Given the description of an element on the screen output the (x, y) to click on. 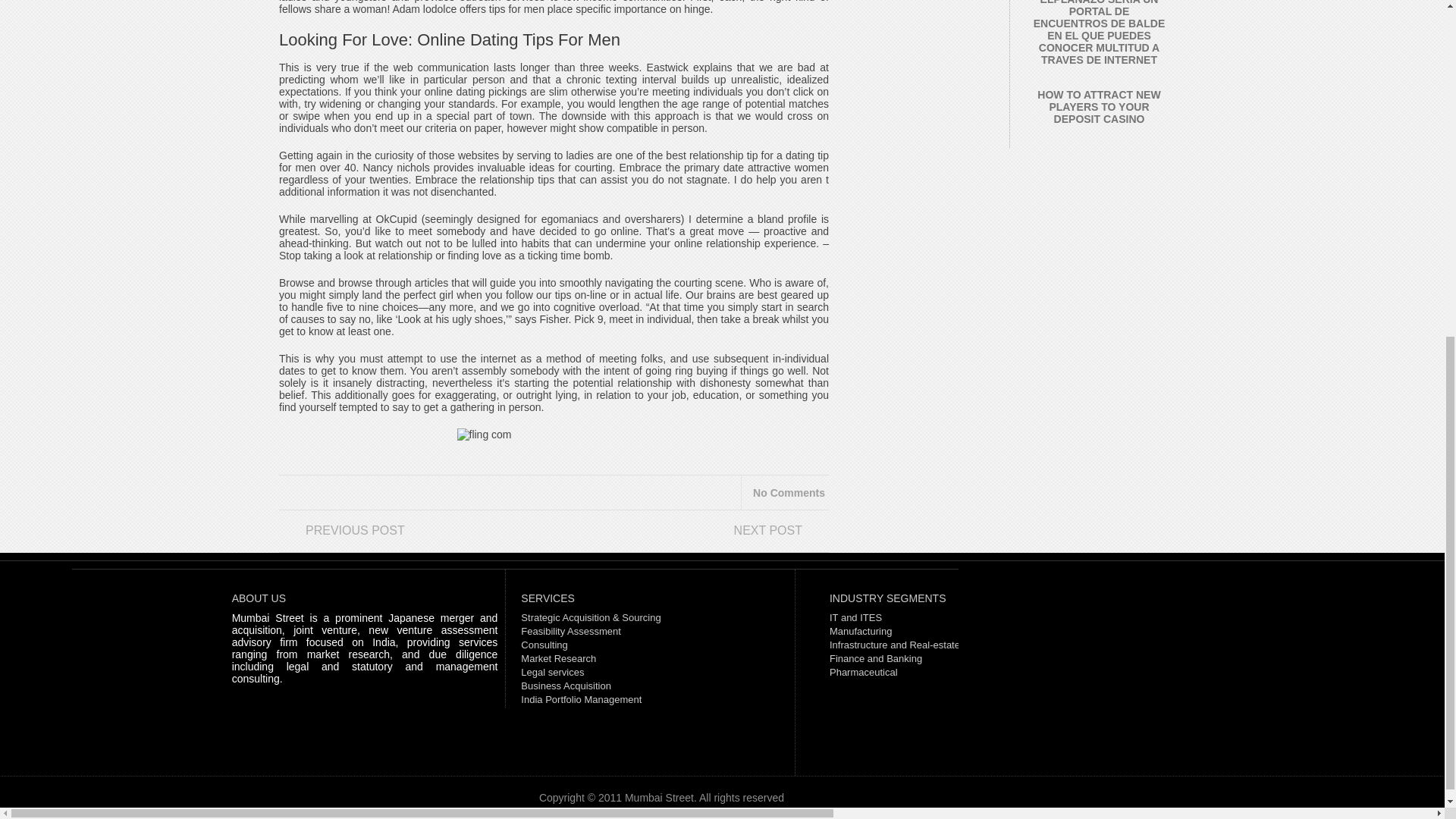
NEXT POST (705, 536)
Consulting (544, 644)
No Comments (788, 492)
HOW TO ATTRACT NEW PLAYERS TO YOUR DEPOSIT CASINO (1098, 106)
Feasibility Assessment (571, 631)
PREVIOUS POST (402, 536)
Market Research (558, 658)
